Given the description of an element on the screen output the (x, y) to click on. 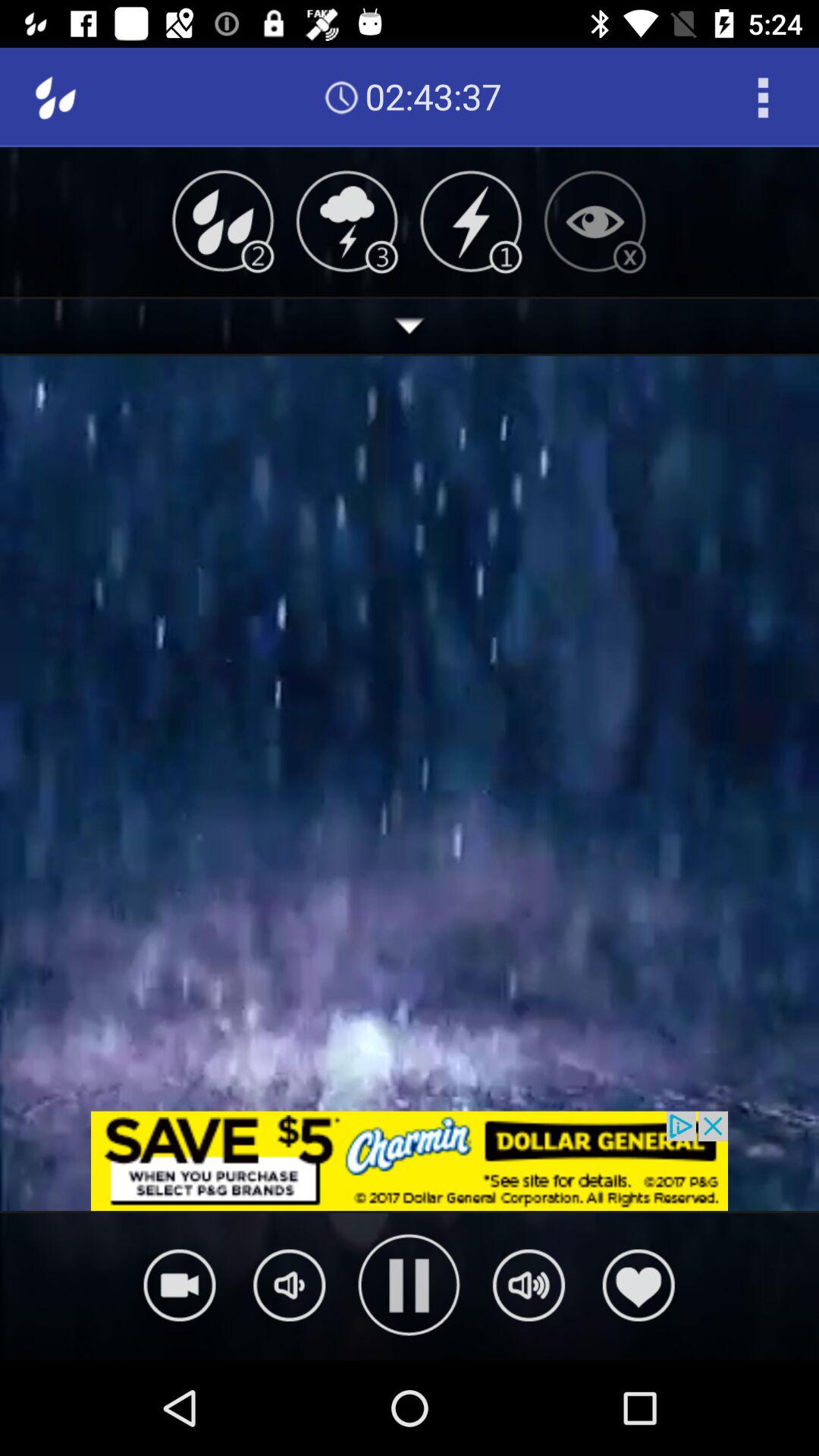
click 02:43:36 icon (433, 97)
